Given the description of an element on the screen output the (x, y) to click on. 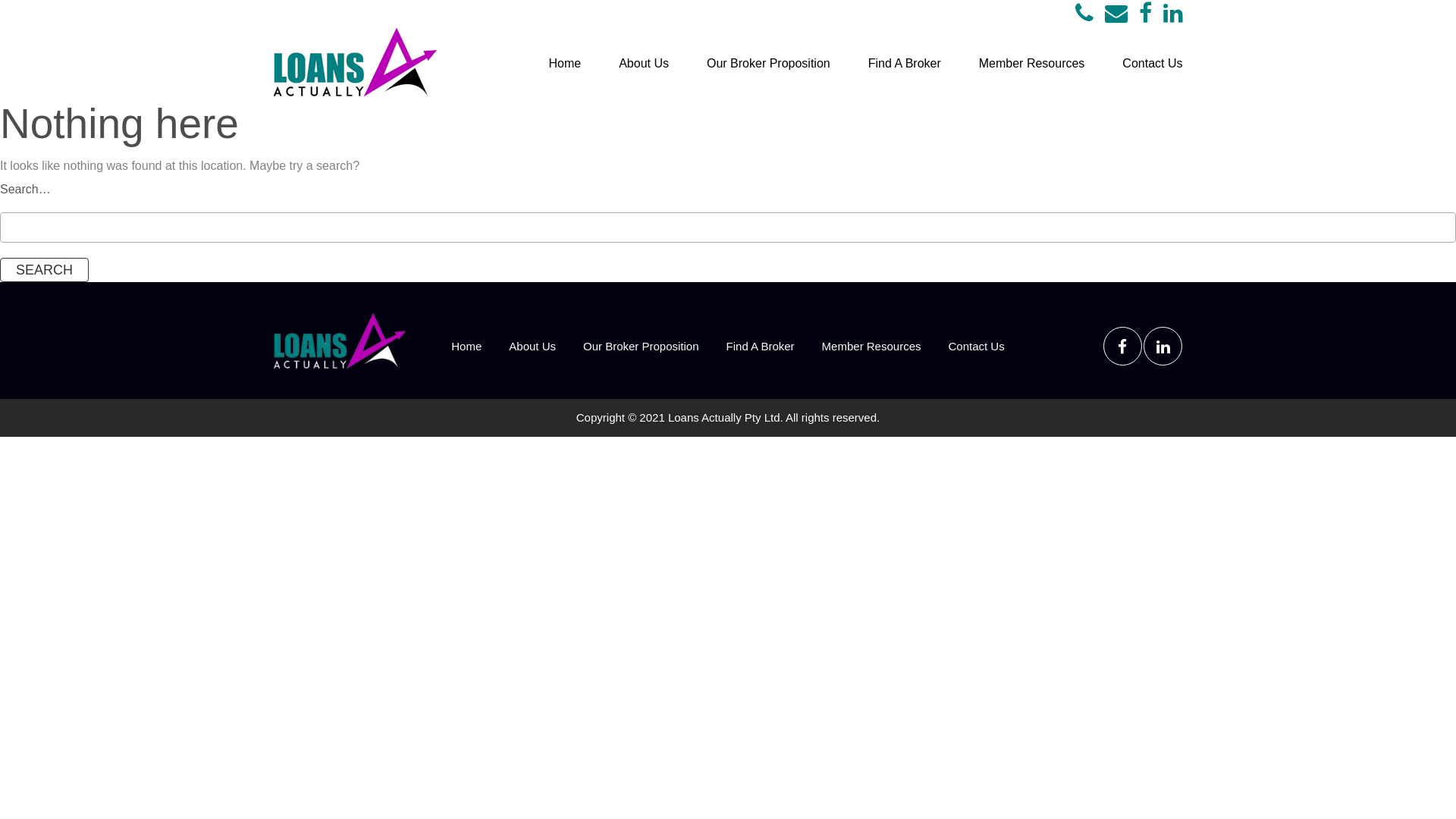
Contact Us Element type: text (975, 345)
Search Element type: text (44, 269)
About Us Element type: text (643, 63)
About Us Element type: text (531, 345)
Find A Broker Element type: text (904, 63)
Our Broker Proposition Element type: text (641, 345)
Member Resources Element type: text (1032, 63)
Contact Us Element type: text (1152, 63)
Our Broker Proposition Element type: text (768, 63)
Home Element type: text (466, 345)
Find A Broker Element type: text (760, 345)
Home Element type: text (564, 63)
Member Resources Element type: text (871, 345)
